Given the description of an element on the screen output the (x, y) to click on. 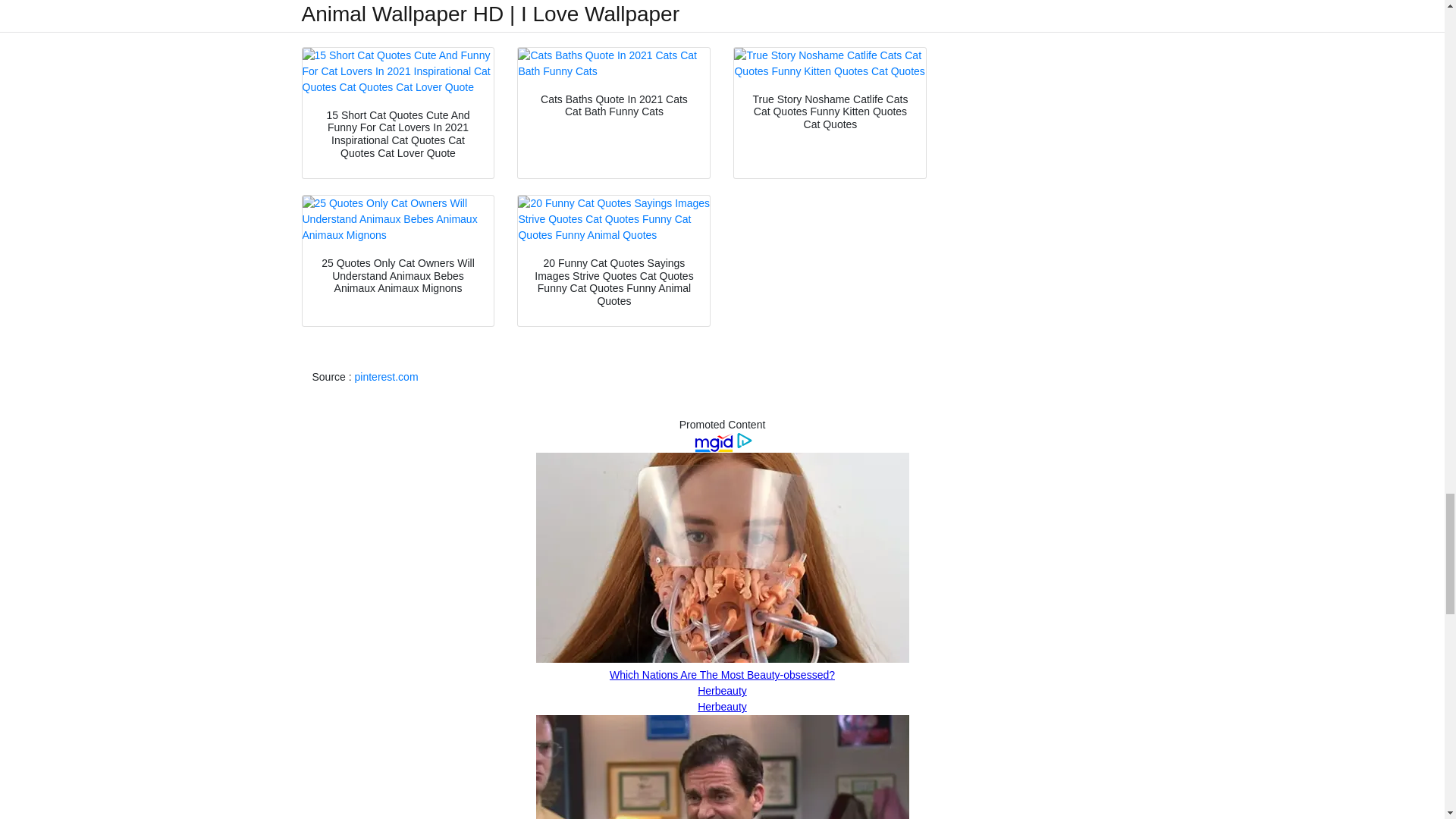
pinterest.com (387, 377)
